Given the description of an element on the screen output the (x, y) to click on. 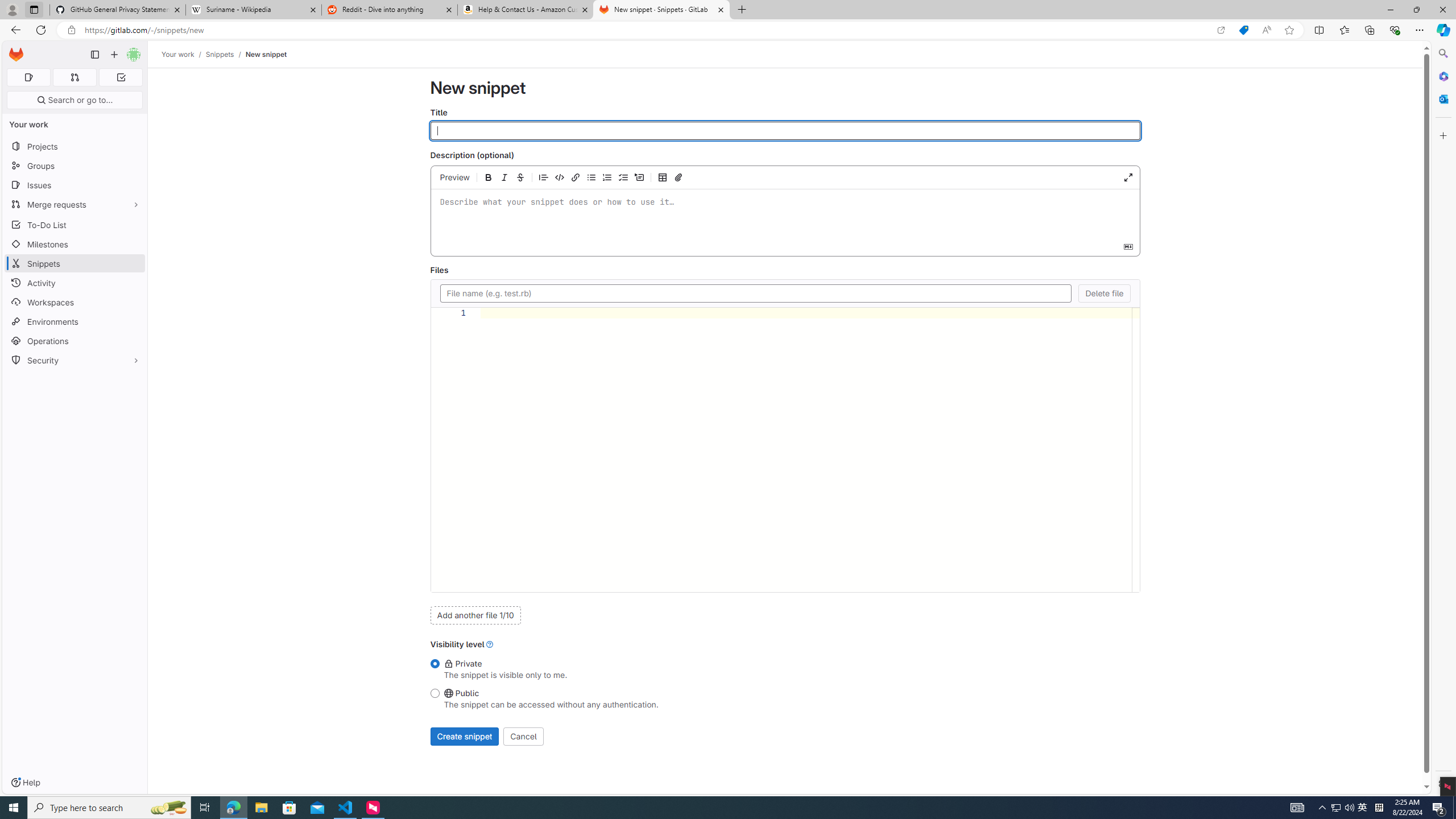
Merge requests (74, 203)
Insert a quote (543, 177)
Add bold text (Ctrl+B) (488, 177)
Security (74, 359)
Add a collapsible section (638, 177)
Primary navigation sidebar (94, 54)
Projects (74, 145)
